Given the description of an element on the screen output the (x, y) to click on. 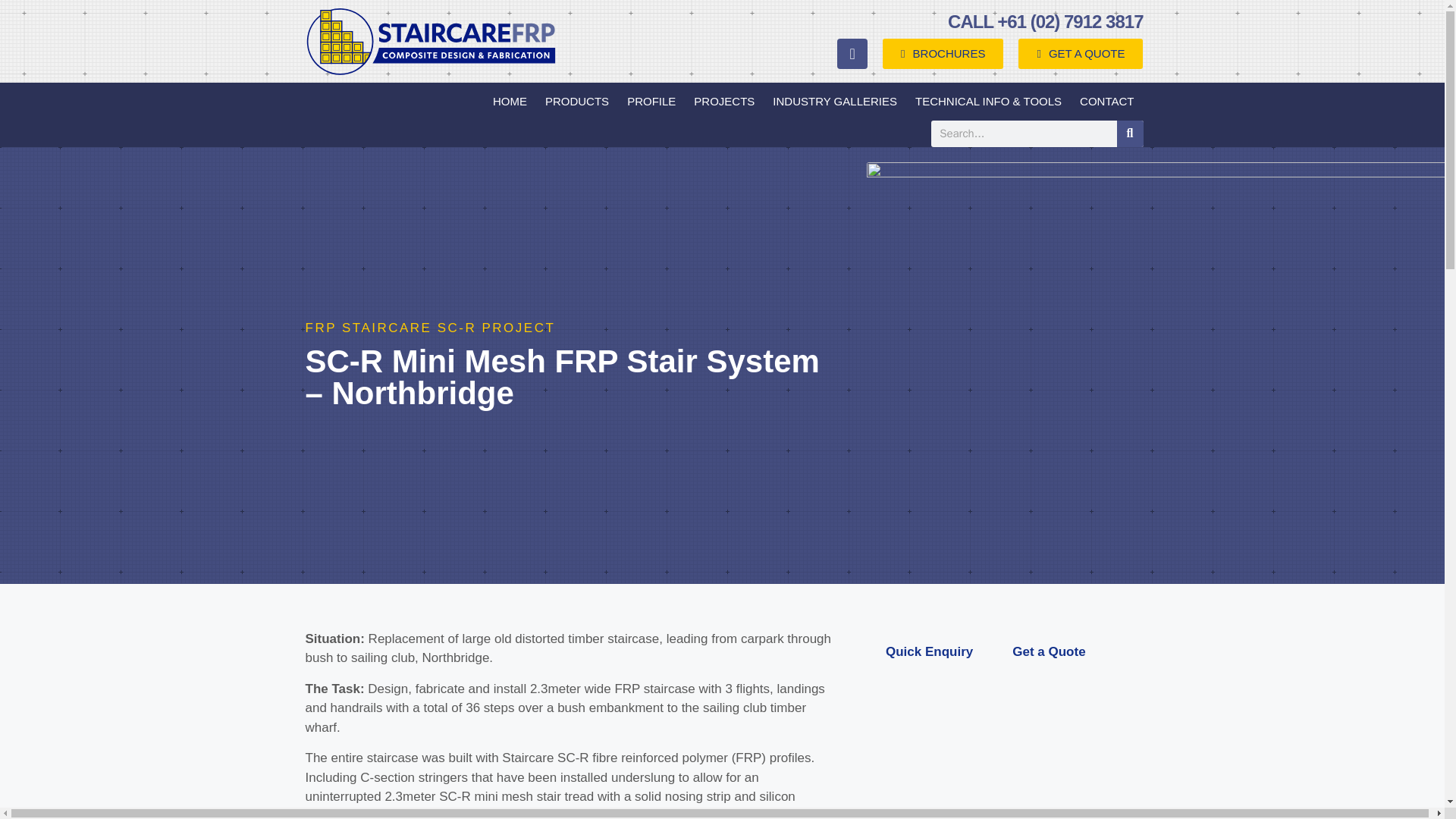
INDUSTRY GALLERIES (833, 101)
PROJECTS (723, 101)
GET A QUOTE (1079, 53)
CONTACT (1106, 101)
HOME (509, 101)
PROFILE (650, 101)
FRP Products range (576, 101)
PRODUCTS (576, 101)
BROCHURES (942, 53)
